Given the description of an element on the screen output the (x, y) to click on. 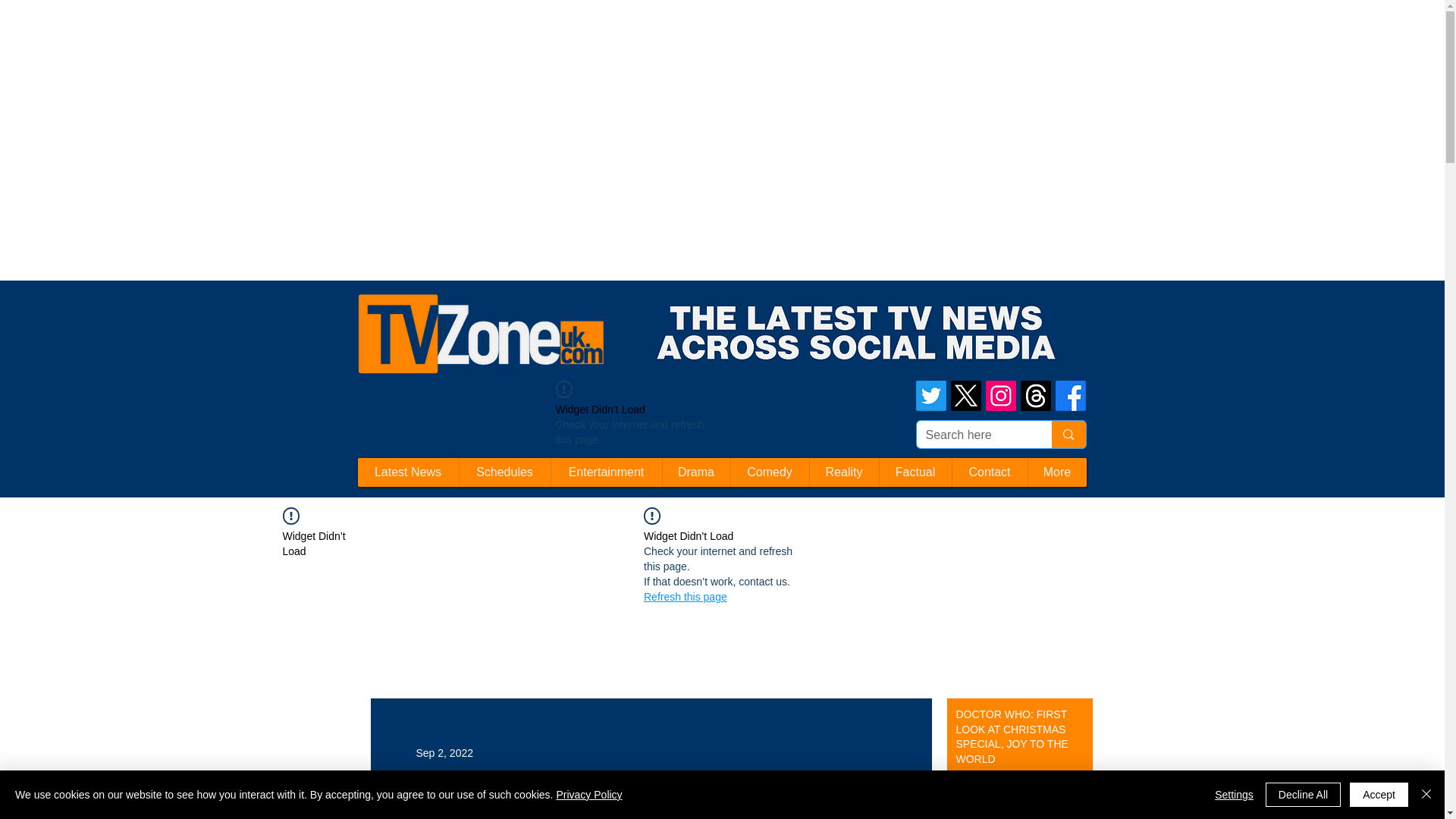
Reality (842, 471)
Factual (913, 471)
Comedy (768, 471)
Contact (988, 471)
Refresh this page (684, 596)
Advertisement (275, 33)
Drama (695, 471)
Entertainment (606, 471)
Schedules (504, 471)
Latest News (408, 471)
1 min (965, 785)
Sep 2, 2022 (443, 752)
